Given the description of an element on the screen output the (x, y) to click on. 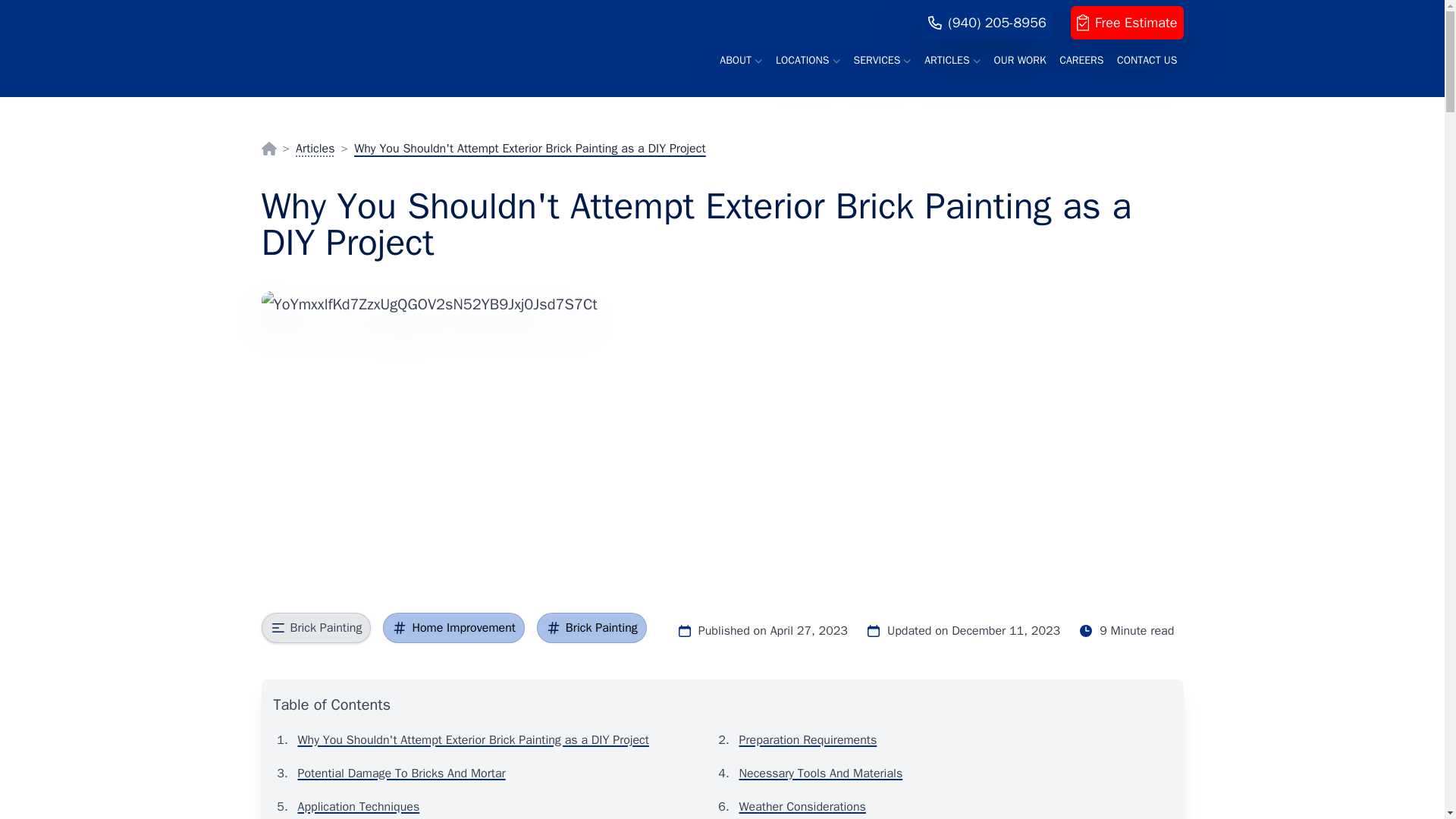
Free Estimate (1126, 22)
LOCATIONS (807, 60)
ABOUT (740, 60)
SERVICES (882, 60)
ARTICLES (952, 60)
SPRAY TEX PAINTING (303, 8)
